Given the description of an element on the screen output the (x, y) to click on. 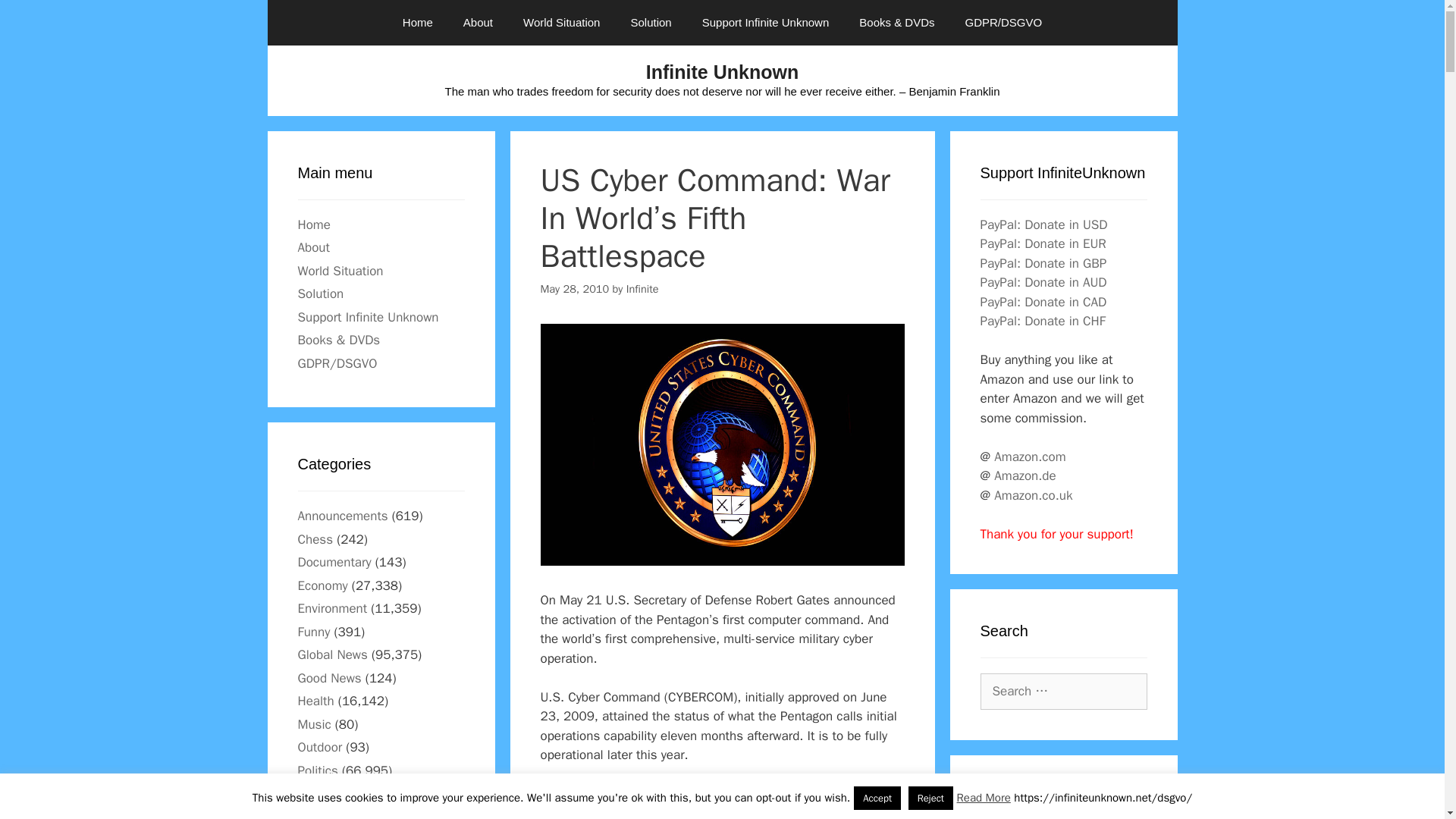
About (478, 22)
Solution (649, 22)
World Situation (561, 22)
Home (417, 22)
Support Infinite Unknown (765, 22)
Infinite Unknown (721, 71)
Infinite (642, 288)
View all posts by Infinite (642, 288)
Search for: (1063, 691)
